Given the description of an element on the screen output the (x, y) to click on. 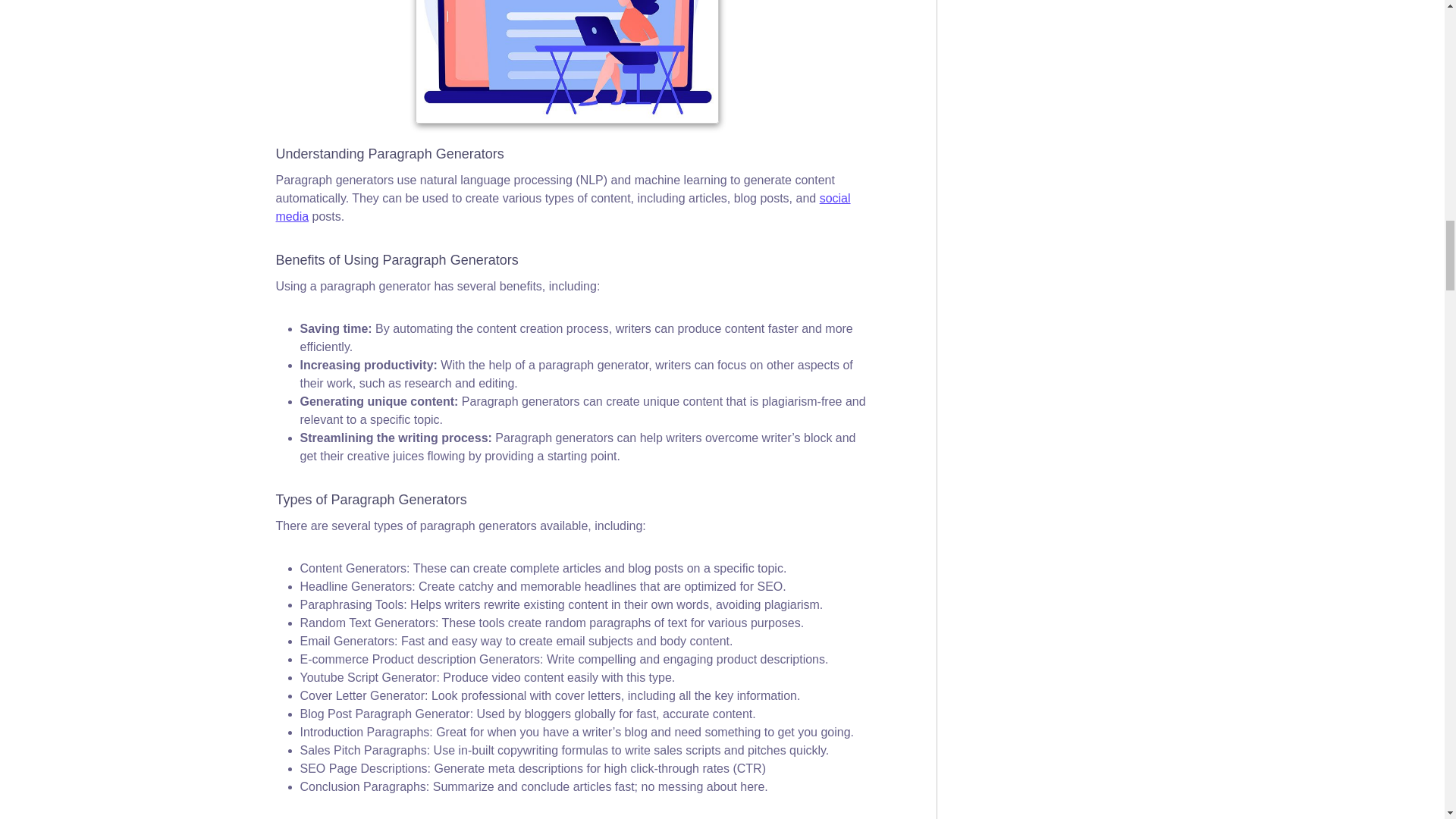
social media (563, 206)
